Given the description of an element on the screen output the (x, y) to click on. 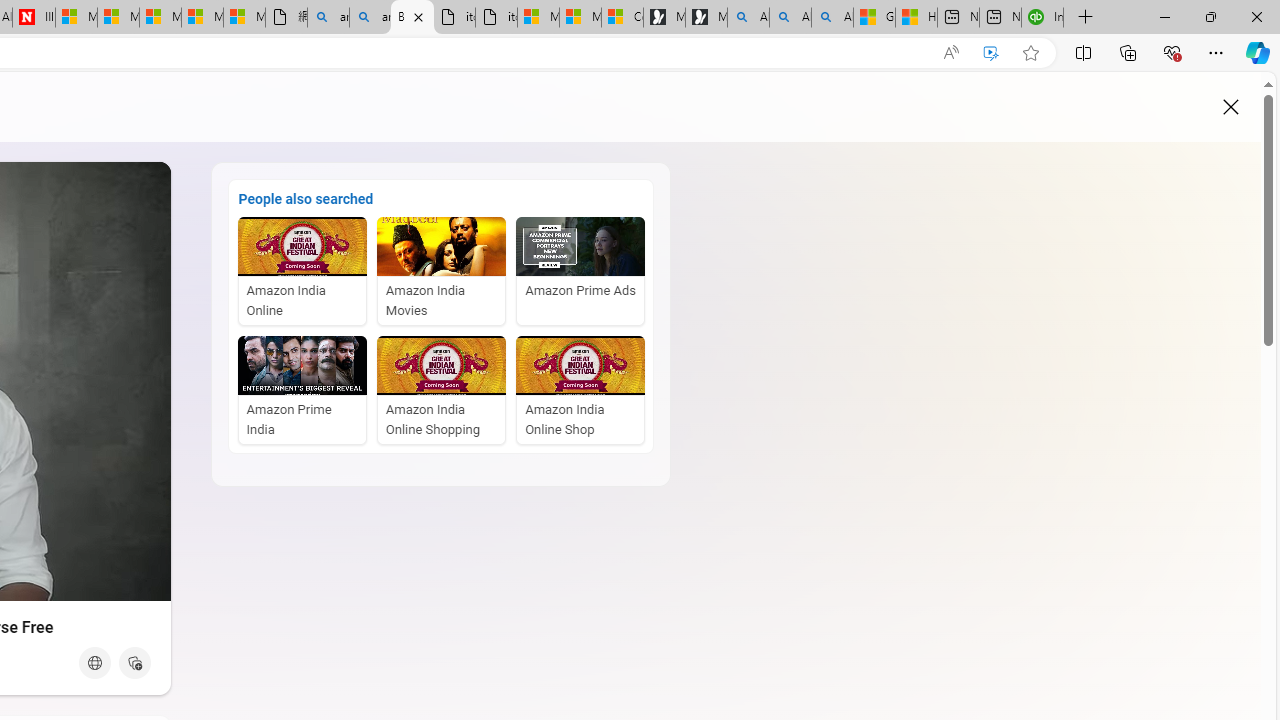
Microsoft Start Gaming (706, 17)
Amazon Prime India (301, 389)
Consumer Health Data Privacy Policy (621, 17)
amazon - Search Videos (369, 17)
Microsoft Services Agreement (118, 17)
Amazon India Online Shop (580, 389)
amazon - Search (328, 17)
Amazon India Online (301, 271)
Amazon Prime Ads (580, 271)
